Given the description of an element on the screen output the (x, y) to click on. 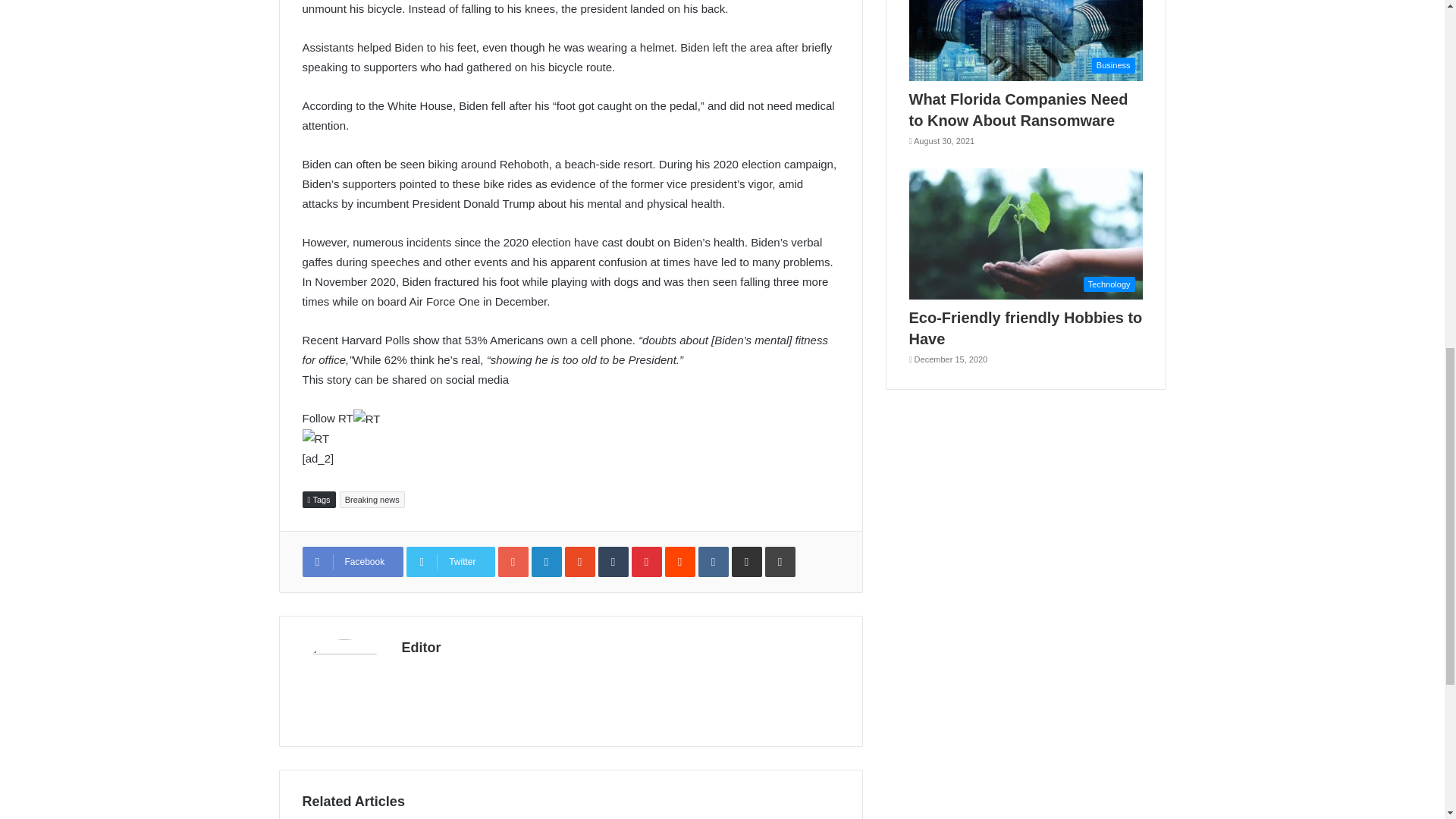
Tumblr (613, 562)
StumbleUpon (579, 562)
Pinterest (646, 562)
VKontakte (713, 562)
Share via Email (746, 562)
Print (779, 562)
Breaking news (371, 499)
Twitter (450, 562)
Facebook (352, 562)
Editor (421, 647)
